Given the description of an element on the screen output the (x, y) to click on. 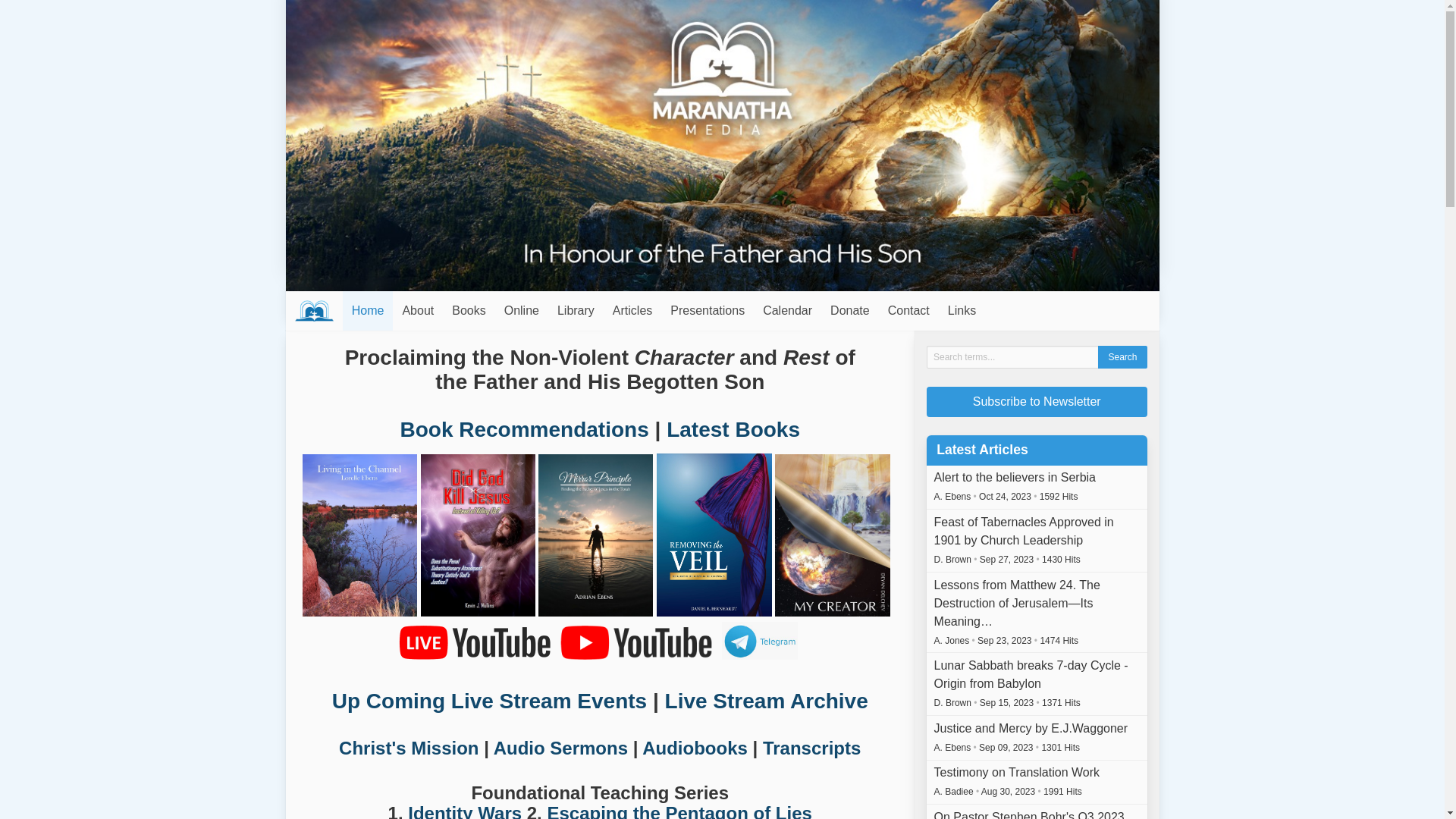
Book Recommendations Element type: text (523, 429)
Books Element type: text (468, 310)
Library Element type: text (575, 310)
Audiobooks Element type: text (694, 747)
Audio Sermons Element type: text (560, 747)
Subscribe to Newsletter Element type: text (1036, 401)
Up Coming Live Stream Events Element type: text (489, 700)
Latest Books Element type: text (733, 429)
Presentations Element type: text (707, 310)
Articles Element type: text (632, 310)
About Element type: text (417, 310)
Calendar Element type: text (787, 310)
Live Stream Archive Element type: text (766, 700)
Home Element type: text (367, 310)
Donate Element type: text (849, 310)
Christ's Mission Element type: text (408, 747)
Links Element type: text (961, 310)
Online Element type: text (521, 310)
Transcripts Element type: text (811, 747)
Contact Element type: text (908, 310)
Search Element type: text (1122, 356)
